Given the description of an element on the screen output the (x, y) to click on. 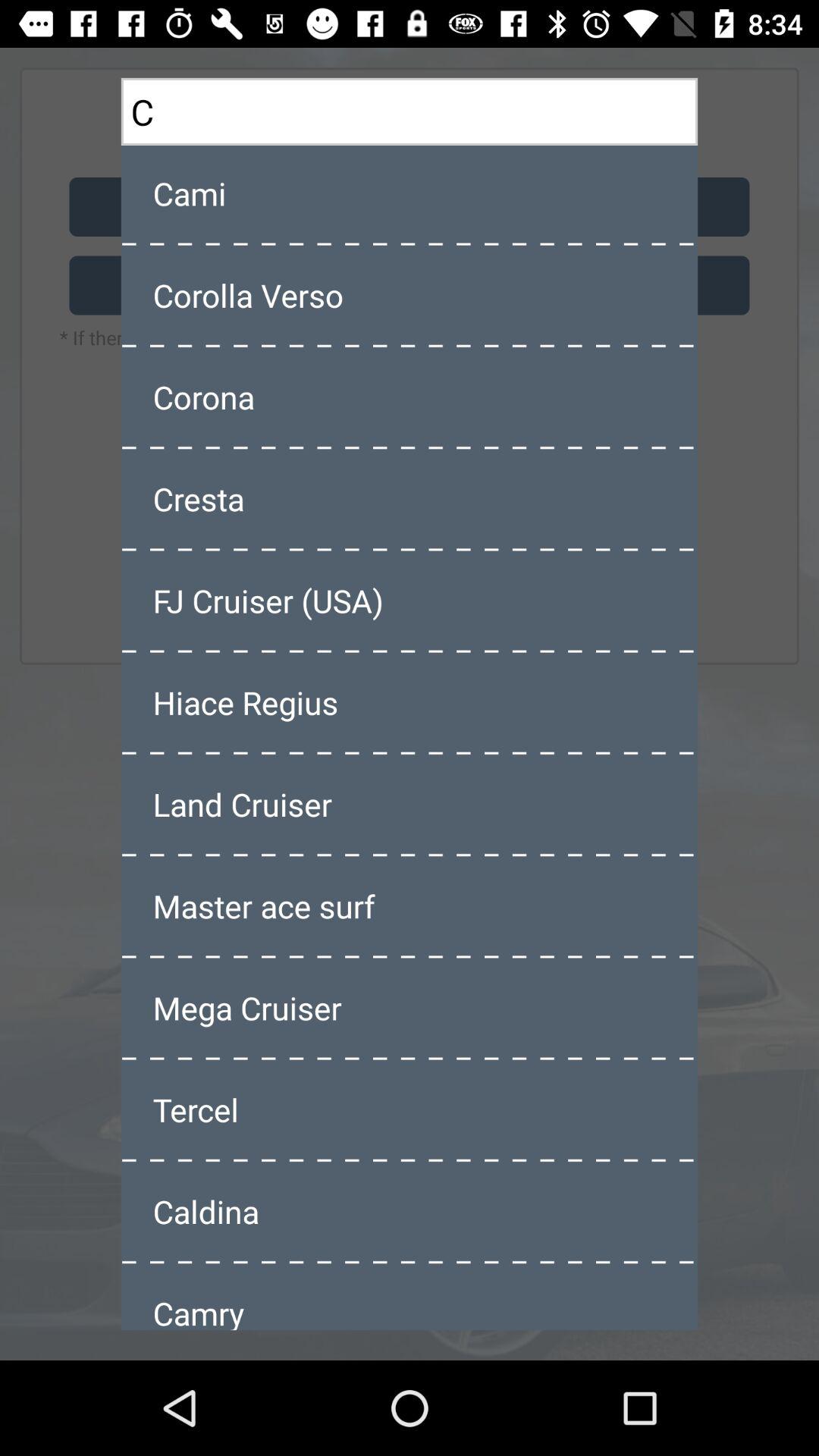
scroll to land cruiser (409, 803)
